Given the description of an element on the screen output the (x, y) to click on. 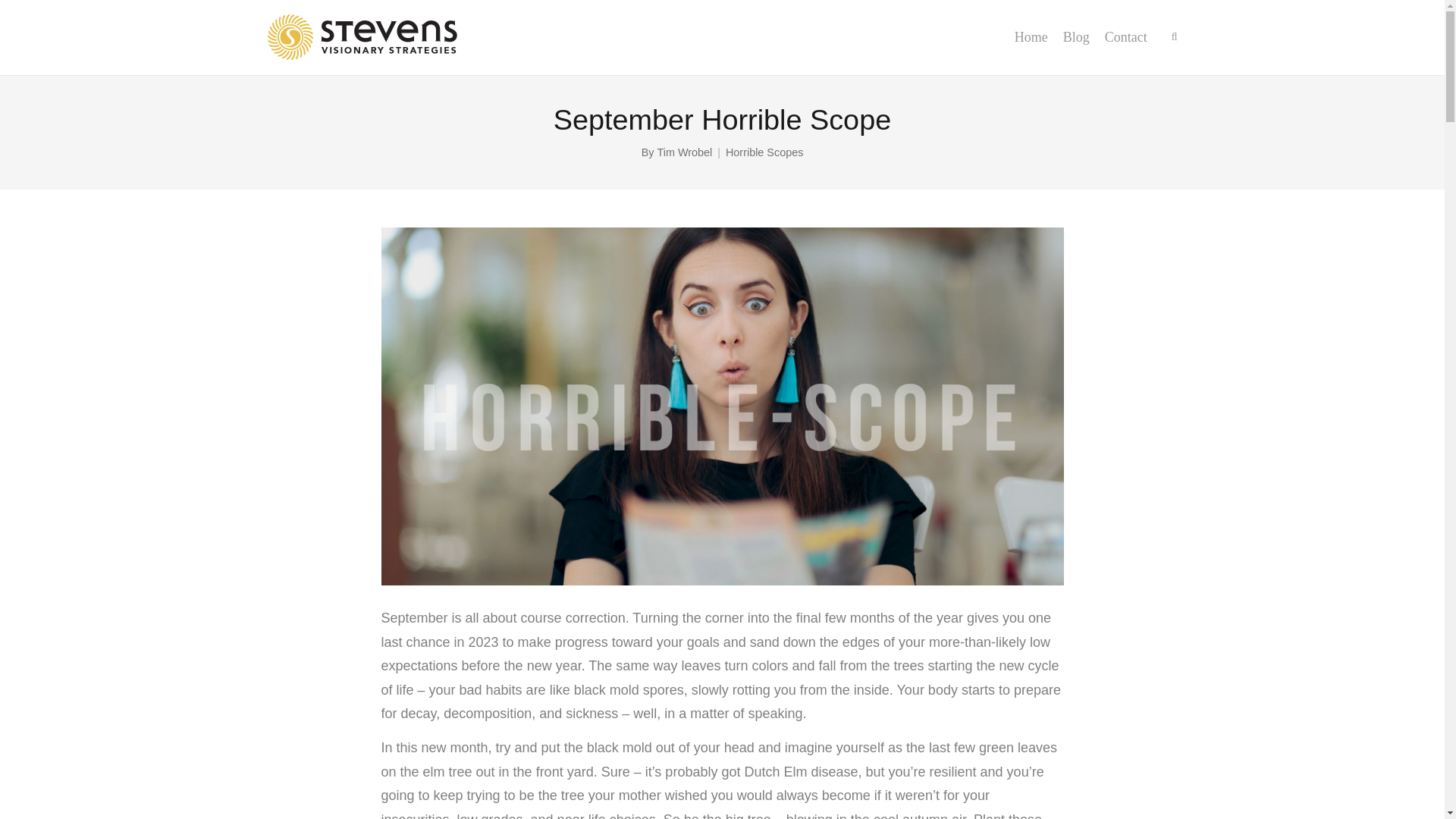
Tim Wrobel (683, 152)
Horrible Scopes (764, 152)
View all posts in Horrible Scopes (764, 152)
